Given the description of an element on the screen output the (x, y) to click on. 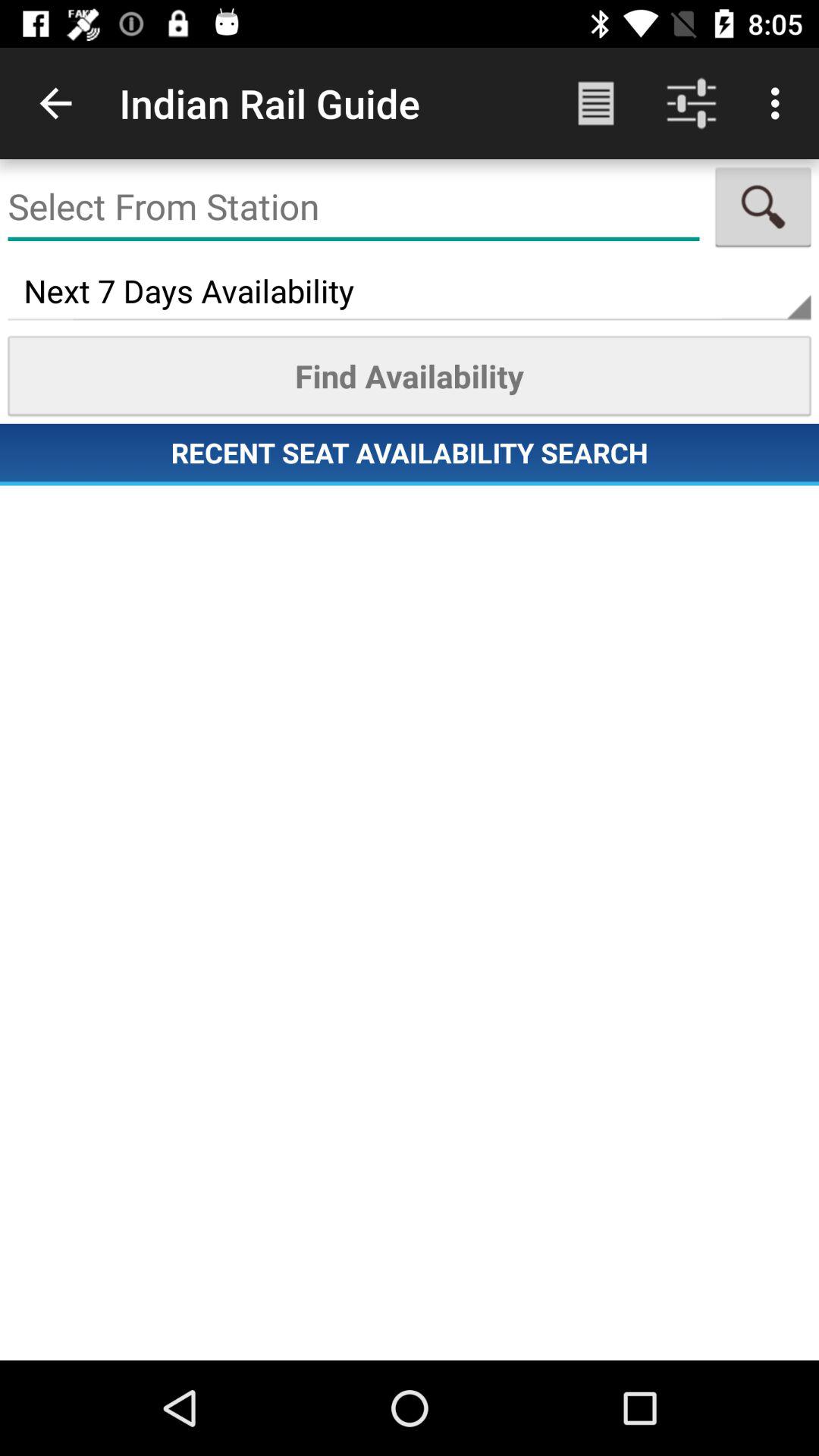
search for input (763, 206)
